Given the description of an element on the screen output the (x, y) to click on. 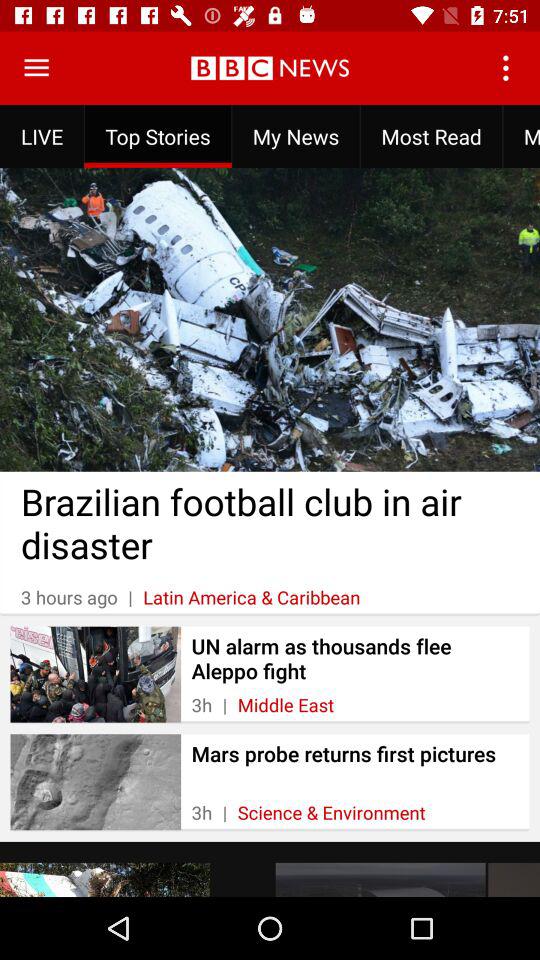
turn on item next to the | icon (285, 704)
